Given the description of an element on the screen output the (x, y) to click on. 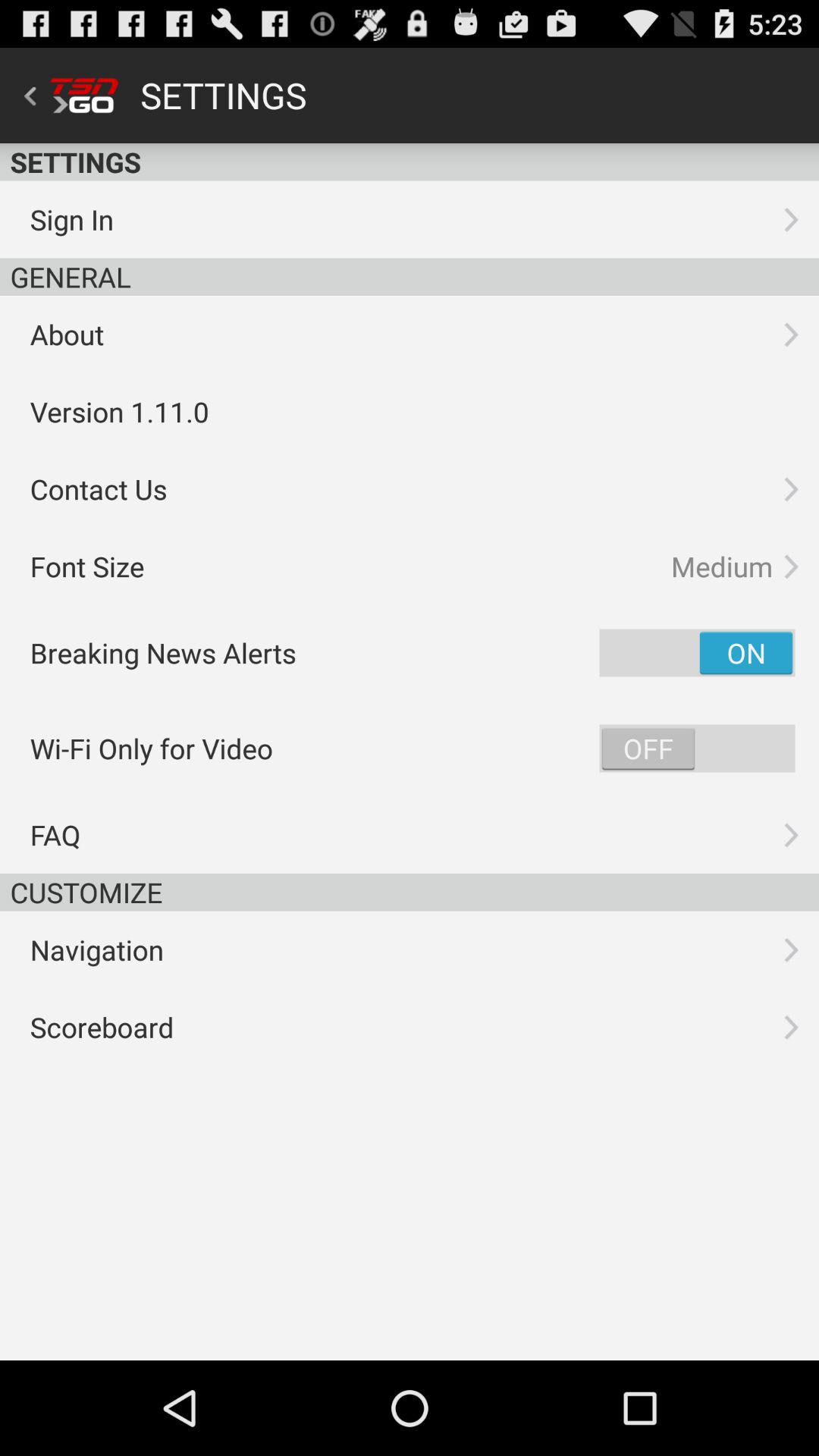
toggle breaking news alerts (697, 652)
